Given the description of an element on the screen output the (x, y) to click on. 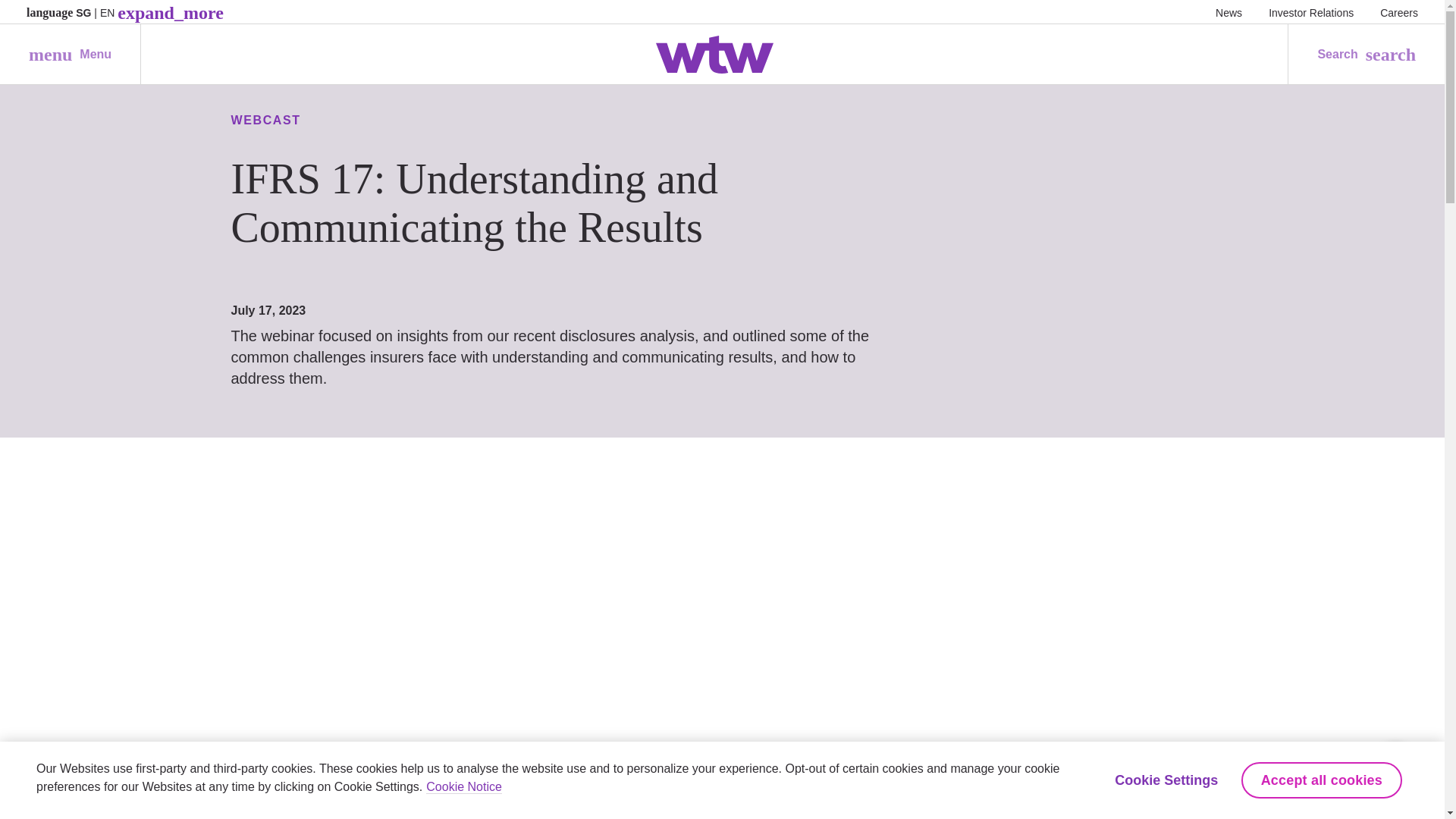
Investor Relations (69, 54)
Careers (1311, 12)
News (1399, 12)
